Given the description of an element on the screen output the (x, y) to click on. 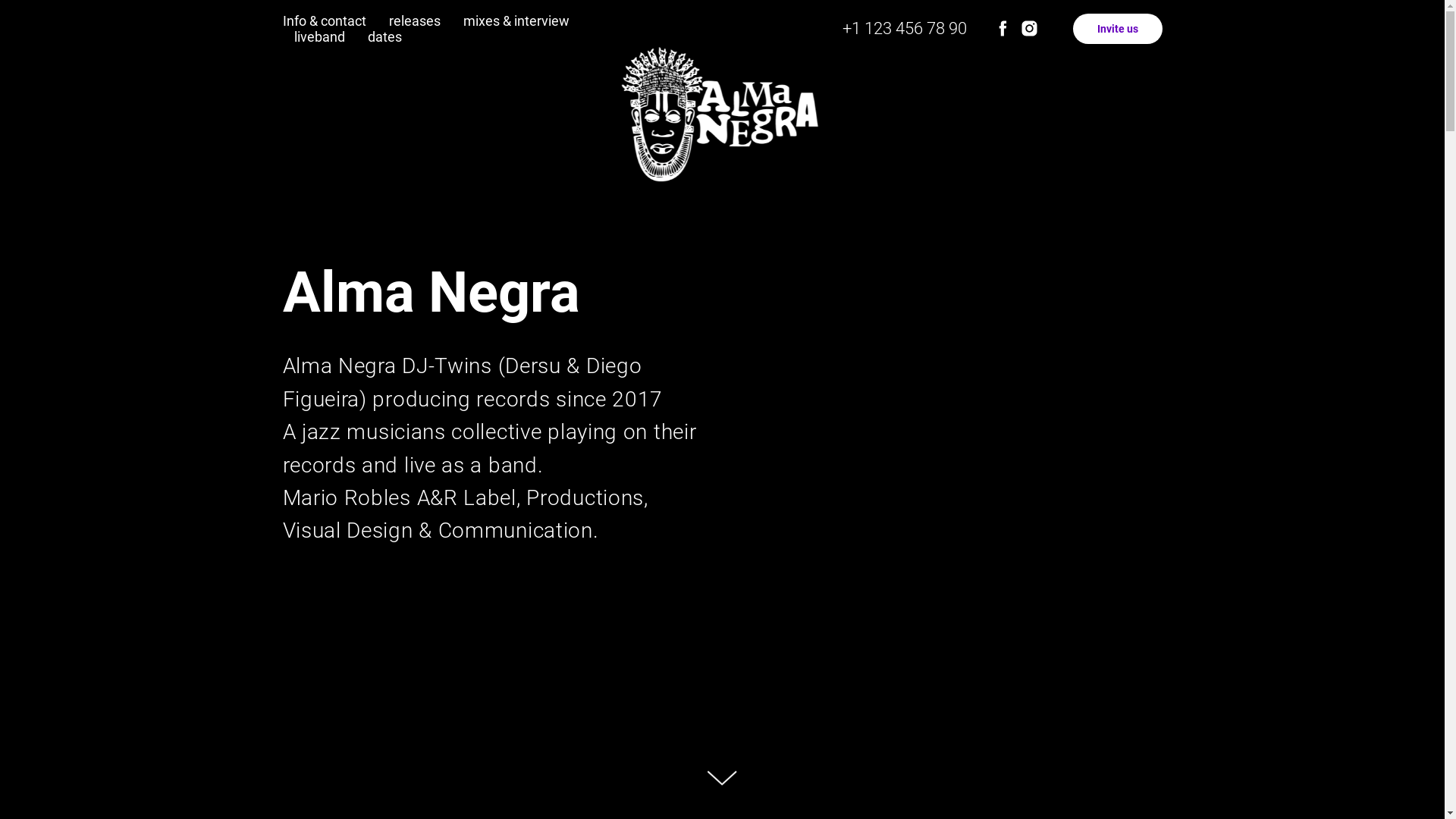
Invite us Element type: text (1116, 28)
releases Element type: text (413, 20)
Instagram Element type: hover (1029, 27)
dates Element type: text (384, 36)
Info & contact Element type: text (323, 20)
mixes & interview Element type: text (515, 20)
liveband Element type: text (319, 36)
Facebook Element type: hover (1001, 27)
